Given the description of an element on the screen output the (x, y) to click on. 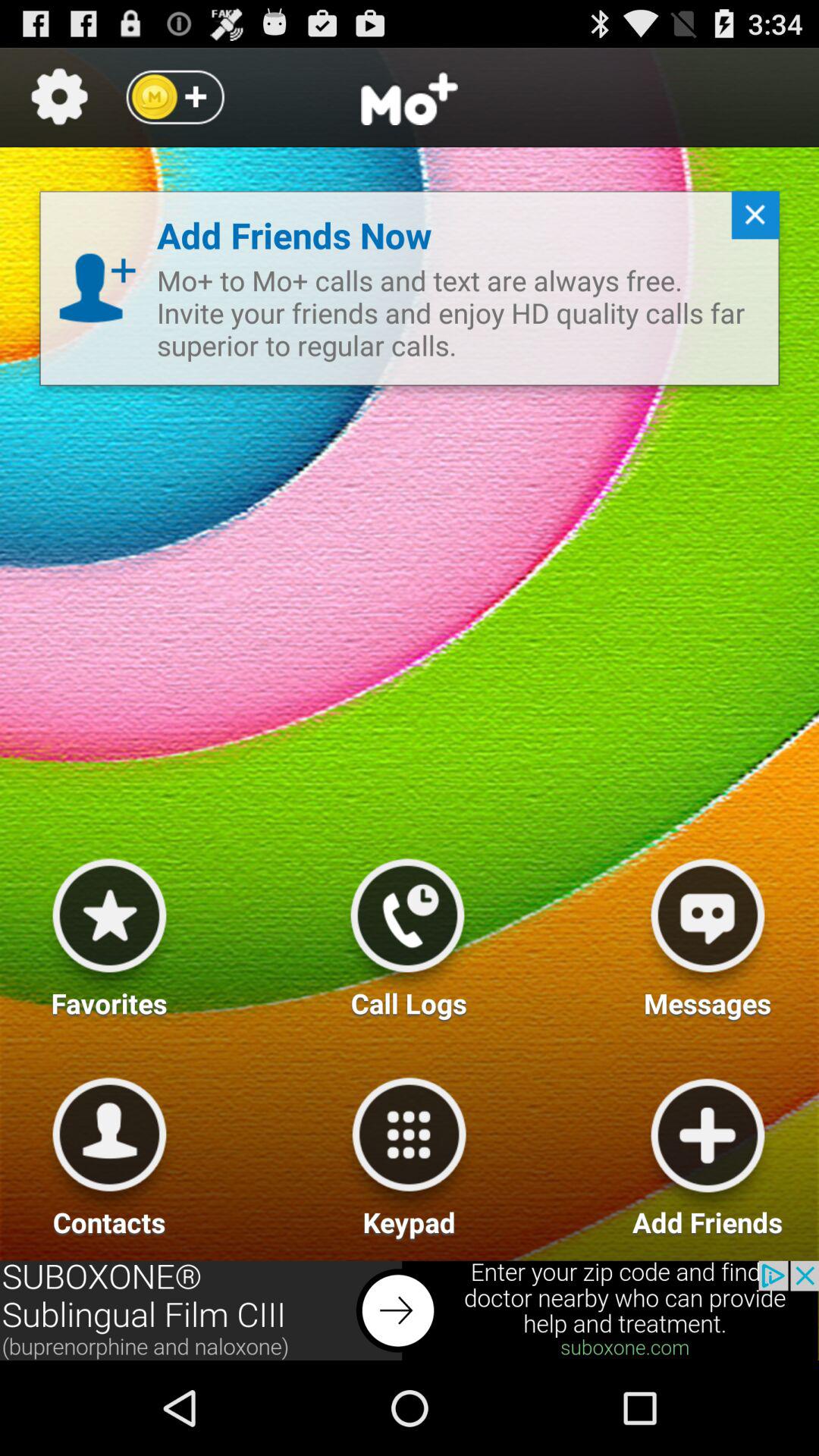
keypad option (408, 1151)
